Given the description of an element on the screen output the (x, y) to click on. 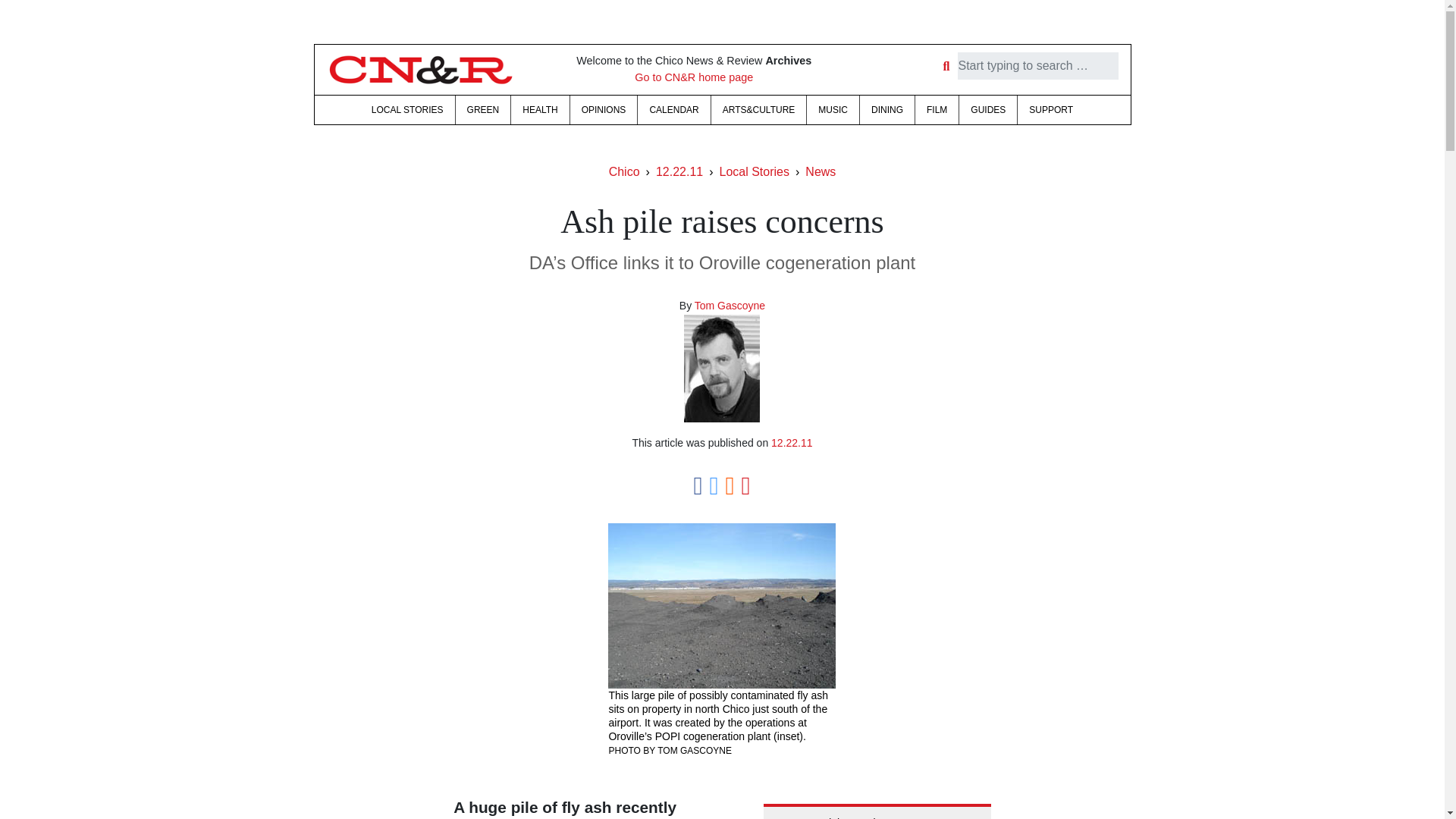
Tom Gascoyne (729, 305)
12.22.11 (791, 442)
Chico (624, 171)
News (820, 171)
HEALTH (540, 109)
Local Stories (754, 171)
SUPPORT (1050, 109)
12.22.11 (679, 171)
CALENDAR (673, 109)
FILM (936, 109)
DINING (887, 109)
GREEN (483, 109)
LOCAL STORIES (406, 109)
GUIDES (987, 109)
MUSIC (832, 109)
